Given the description of an element on the screen output the (x, y) to click on. 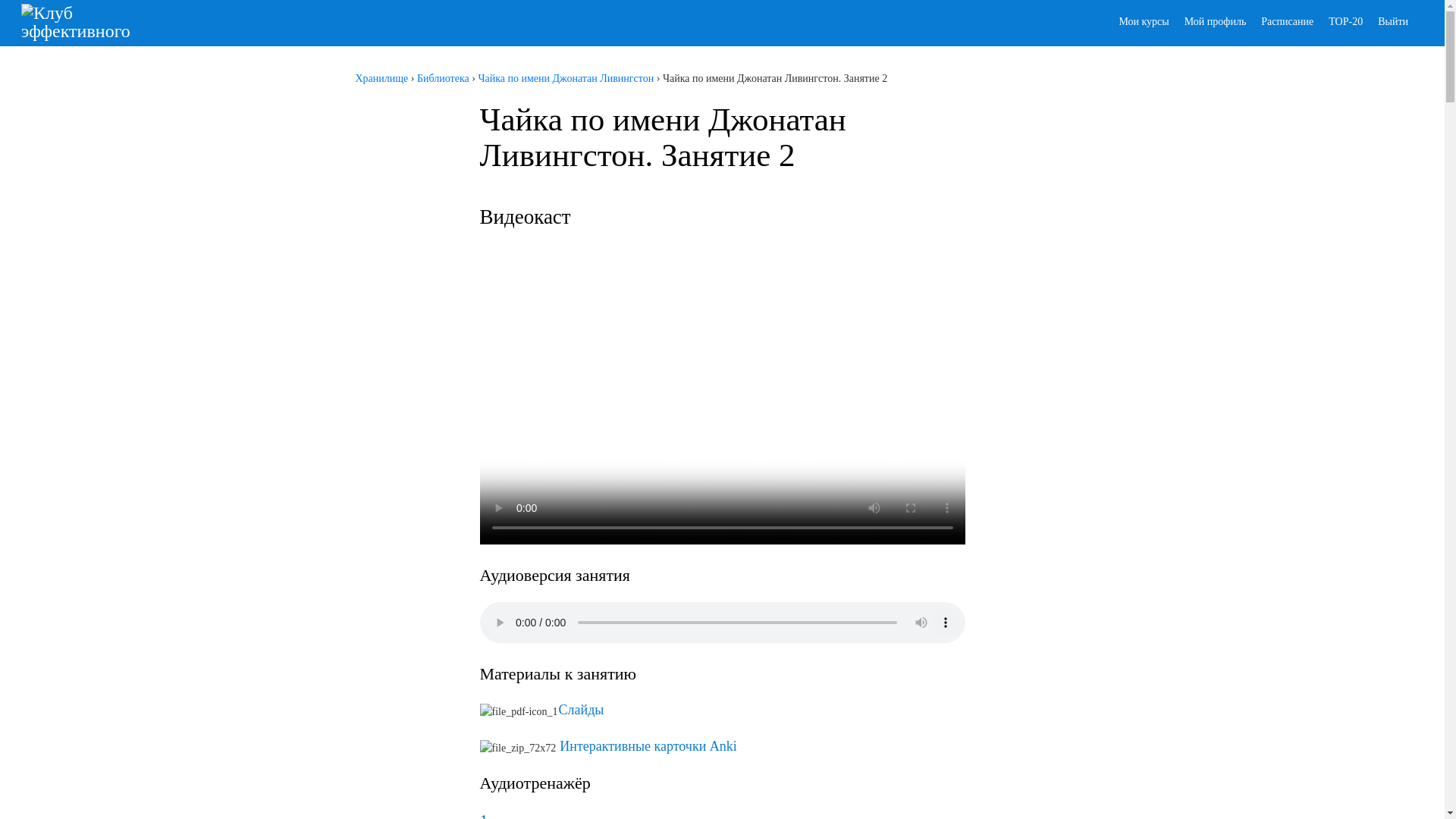
TOP-20 (1345, 21)
Go back to the homepage (97, 22)
